Given the description of an element on the screen output the (x, y) to click on. 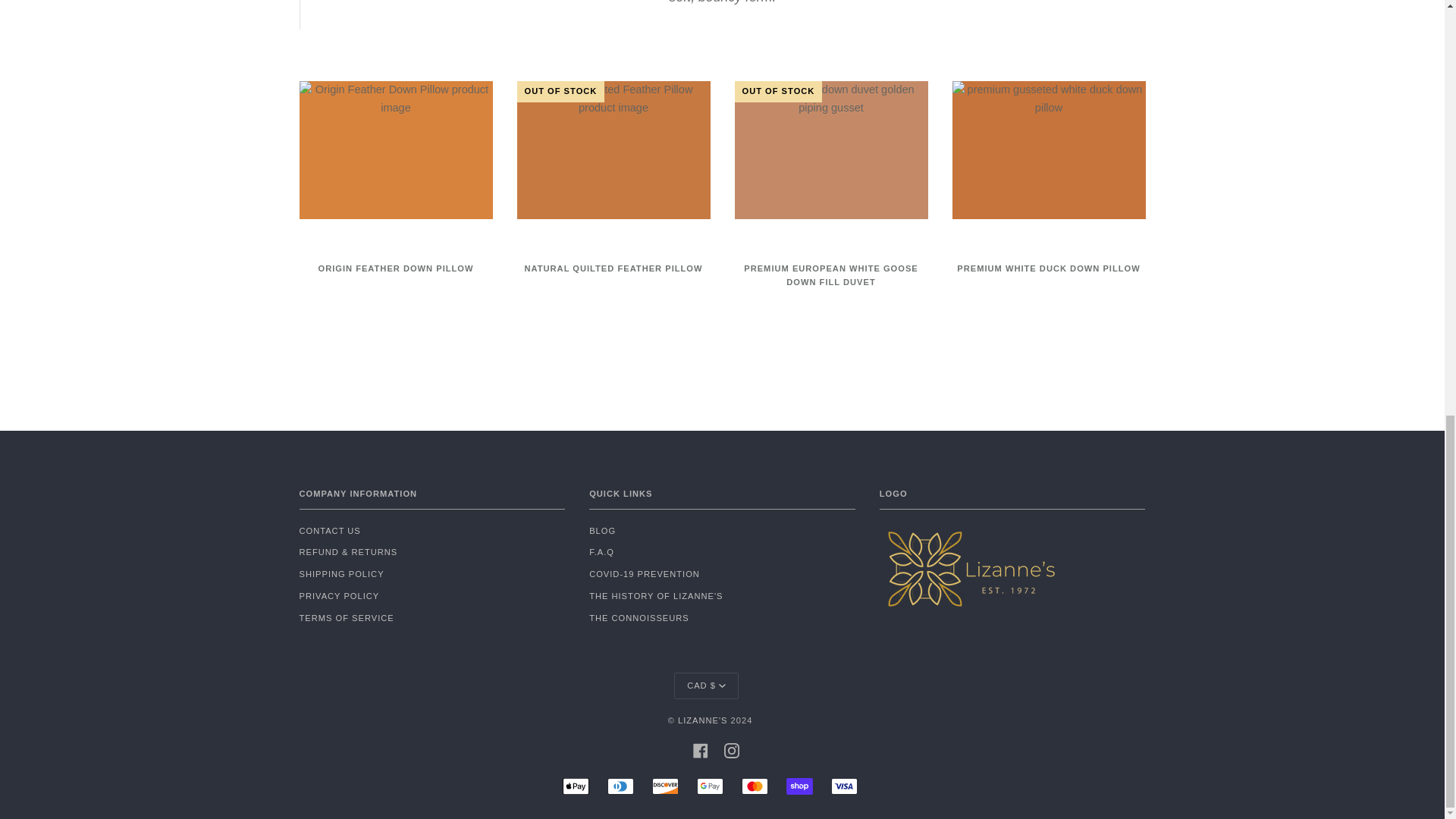
SHOP PAY (799, 786)
GOOGLE PAY (710, 786)
VISA (844, 786)
Facebook (700, 749)
DINERS CLUB (620, 786)
APPLE PAY (575, 786)
Instagram (731, 749)
DISCOVER (665, 786)
MASTERCARD (754, 786)
